Given the description of an element on the screen output the (x, y) to click on. 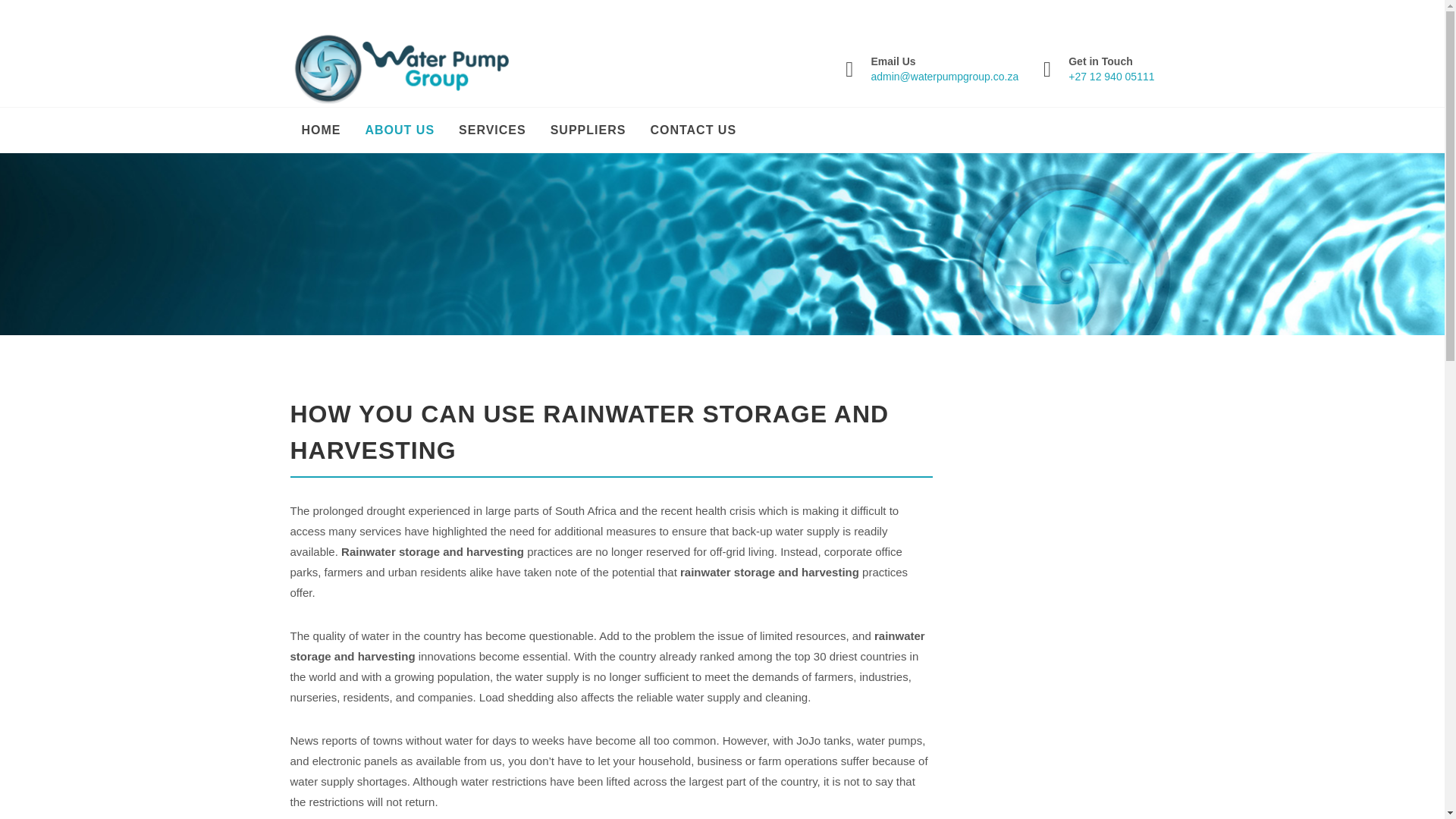
ABOUT US (399, 130)
CONTACT US (693, 130)
HOME (320, 130)
SERVICES (491, 130)
SUPPLIERS (587, 130)
